Given the description of an element on the screen output the (x, y) to click on. 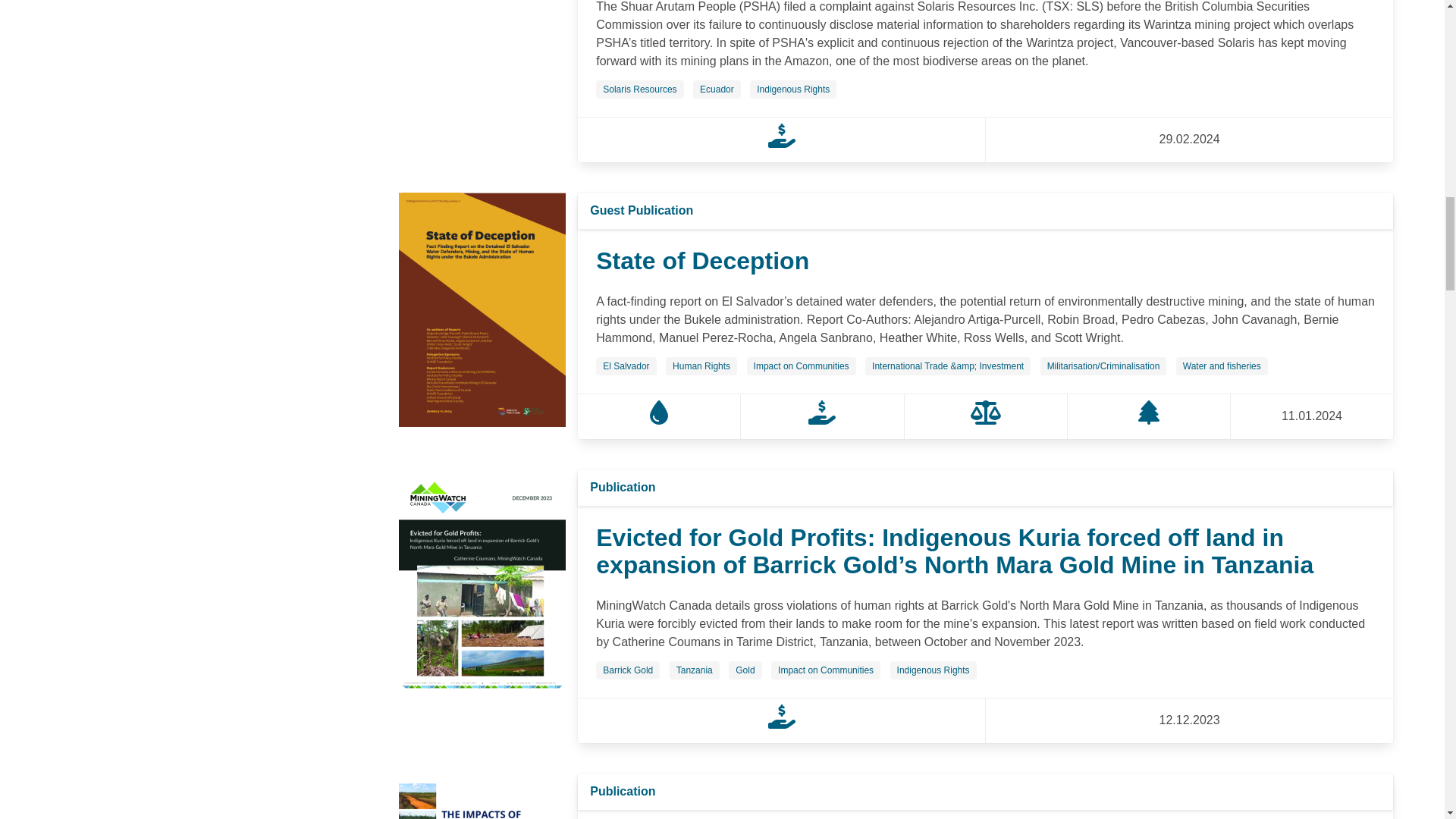
Control the Corporations (781, 143)
